Given the description of an element on the screen output the (x, y) to click on. 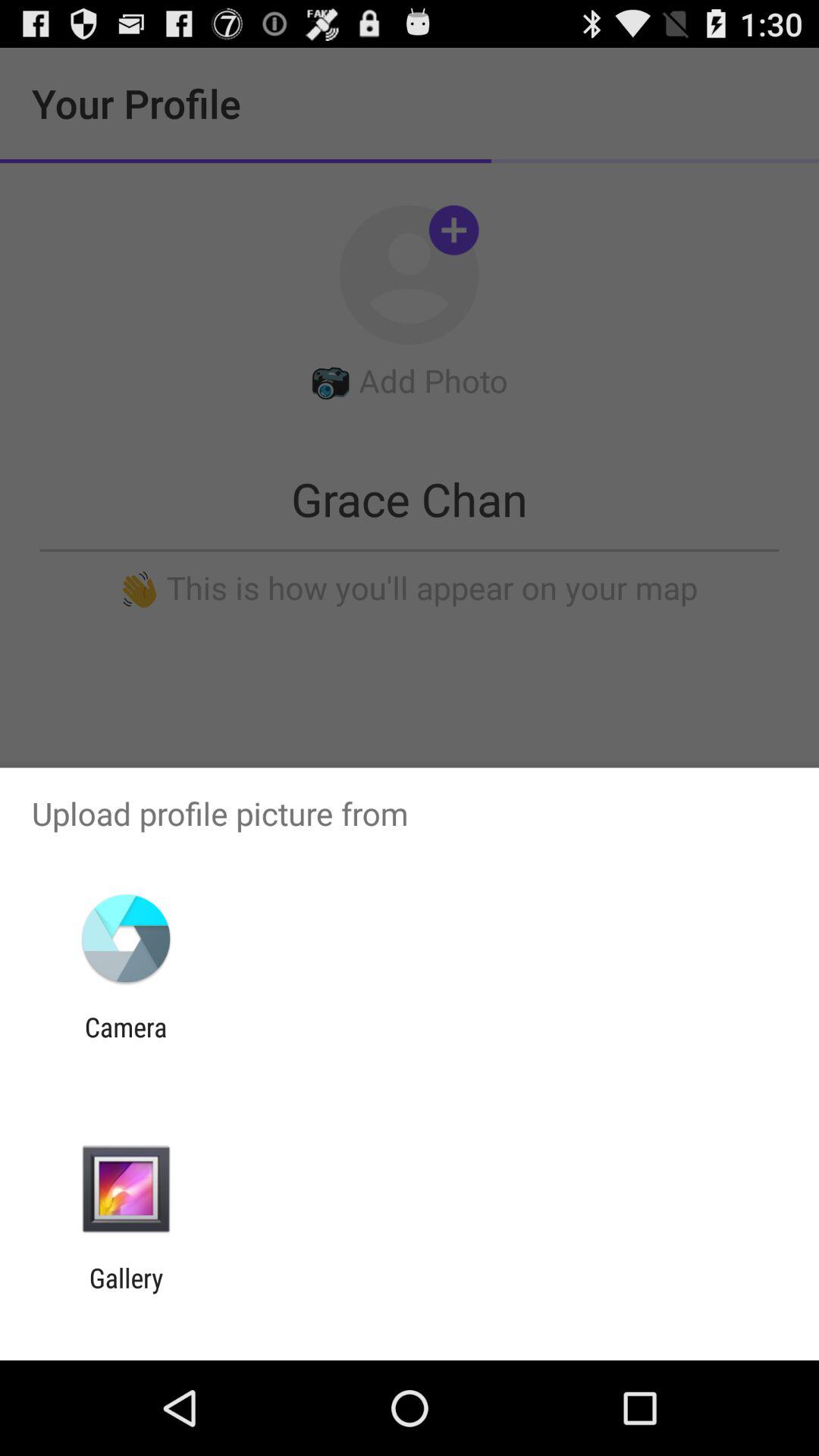
swipe until camera item (125, 1042)
